Given the description of an element on the screen output the (x, y) to click on. 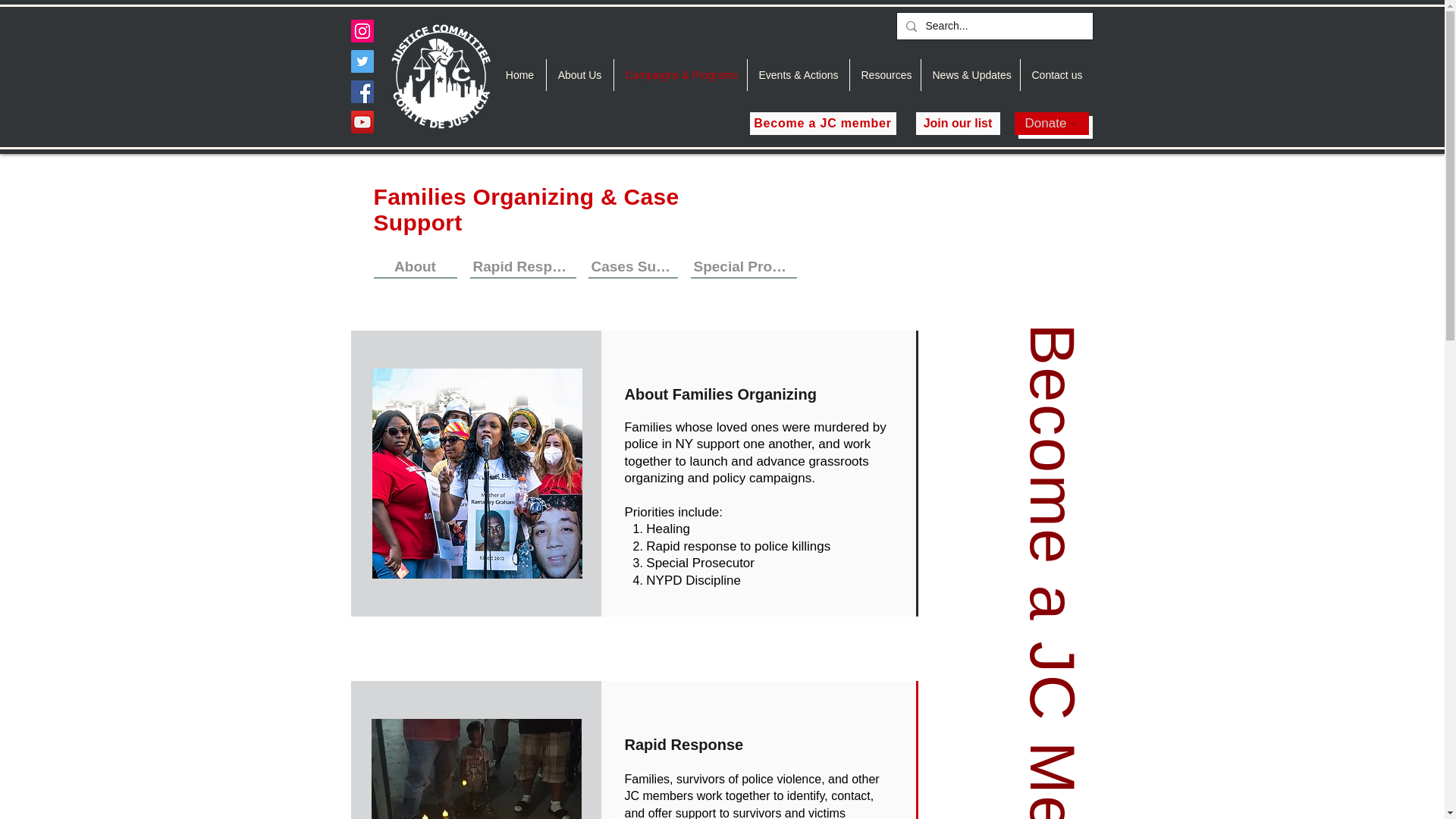
Special Prosecutor (743, 266)
Become a JC member (822, 123)
About (414, 266)
About Us (579, 74)
Contact us (1056, 74)
Rapid Response (523, 266)
Resources (884, 74)
Join our list (957, 123)
Home (520, 74)
Cases Support (633, 266)
Donate (1051, 123)
